Given the description of an element on the screen output the (x, y) to click on. 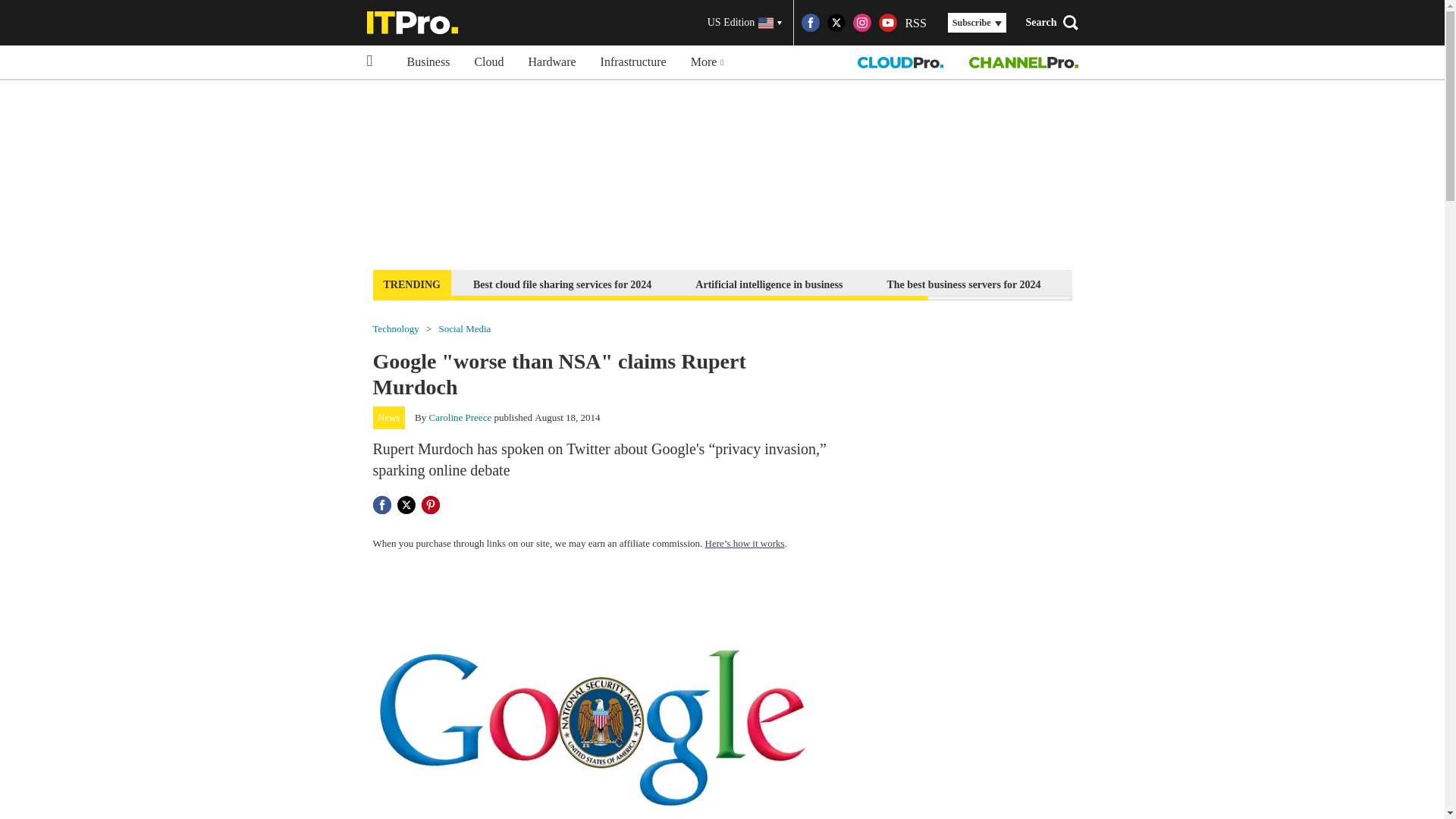
Technology (395, 327)
US Edition (745, 22)
Caroline Preece (460, 417)
The best business servers for 2024 (962, 284)
Social Media (464, 327)
Infrastructure (633, 61)
Business (427, 61)
Subscribe to the ITPro newsletter (1161, 284)
RSS (915, 22)
Artificial intelligence in business (768, 284)
Best cloud file sharing services for 2024 (561, 284)
Hardware (552, 61)
News (389, 417)
